Given the description of an element on the screen output the (x, y) to click on. 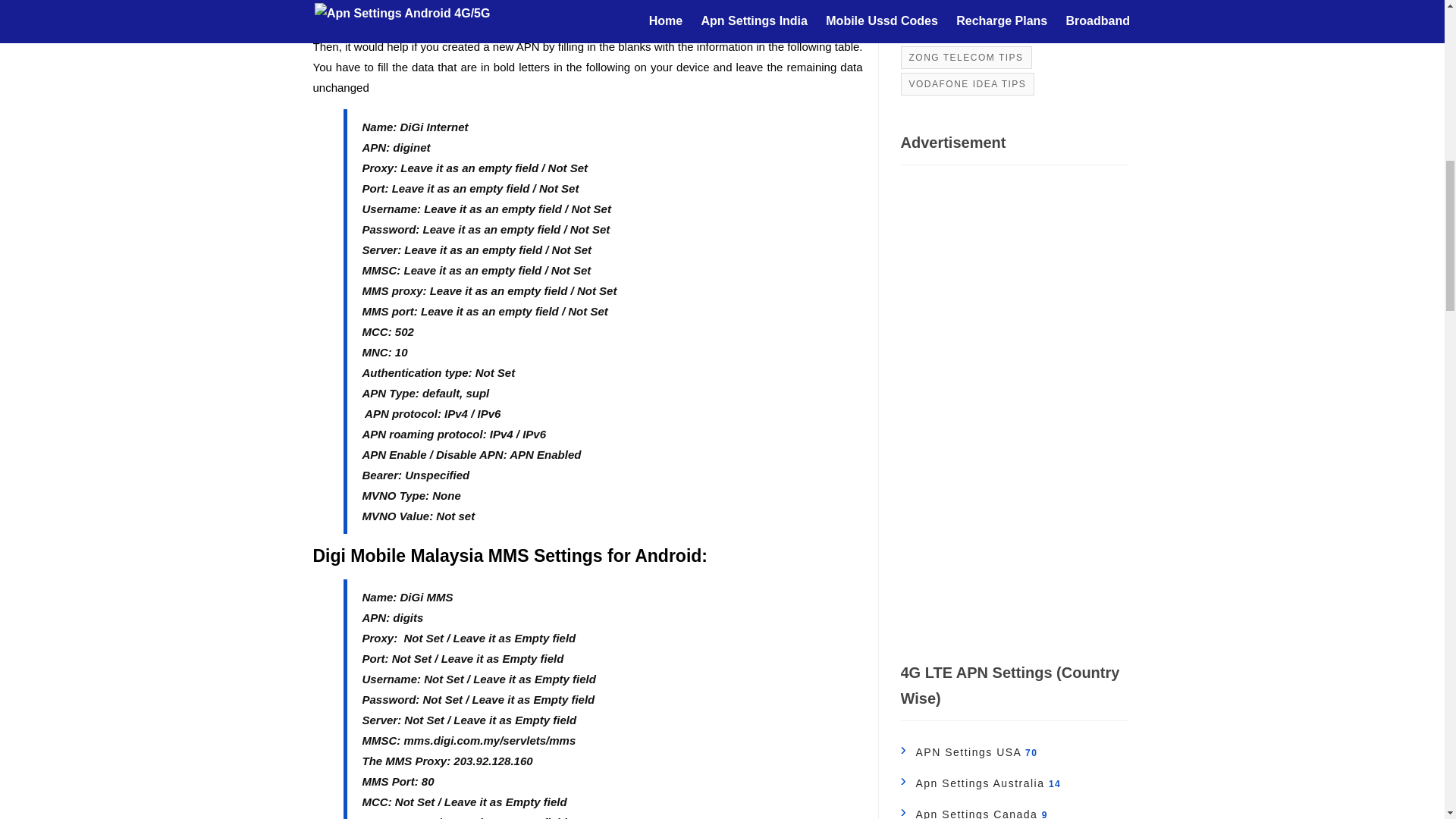
BROADBAND (943, 7)
ALL SMARTPHONE APN SETTINGS (1000, 30)
Apn Settings Australia 14 (981, 783)
Apn Settings Canada 9 (974, 813)
VODAFONE IDEA TIPS (968, 83)
ZONG TELECOM TIPS (966, 56)
APN Settings USA 70 (969, 752)
